Given the description of an element on the screen output the (x, y) to click on. 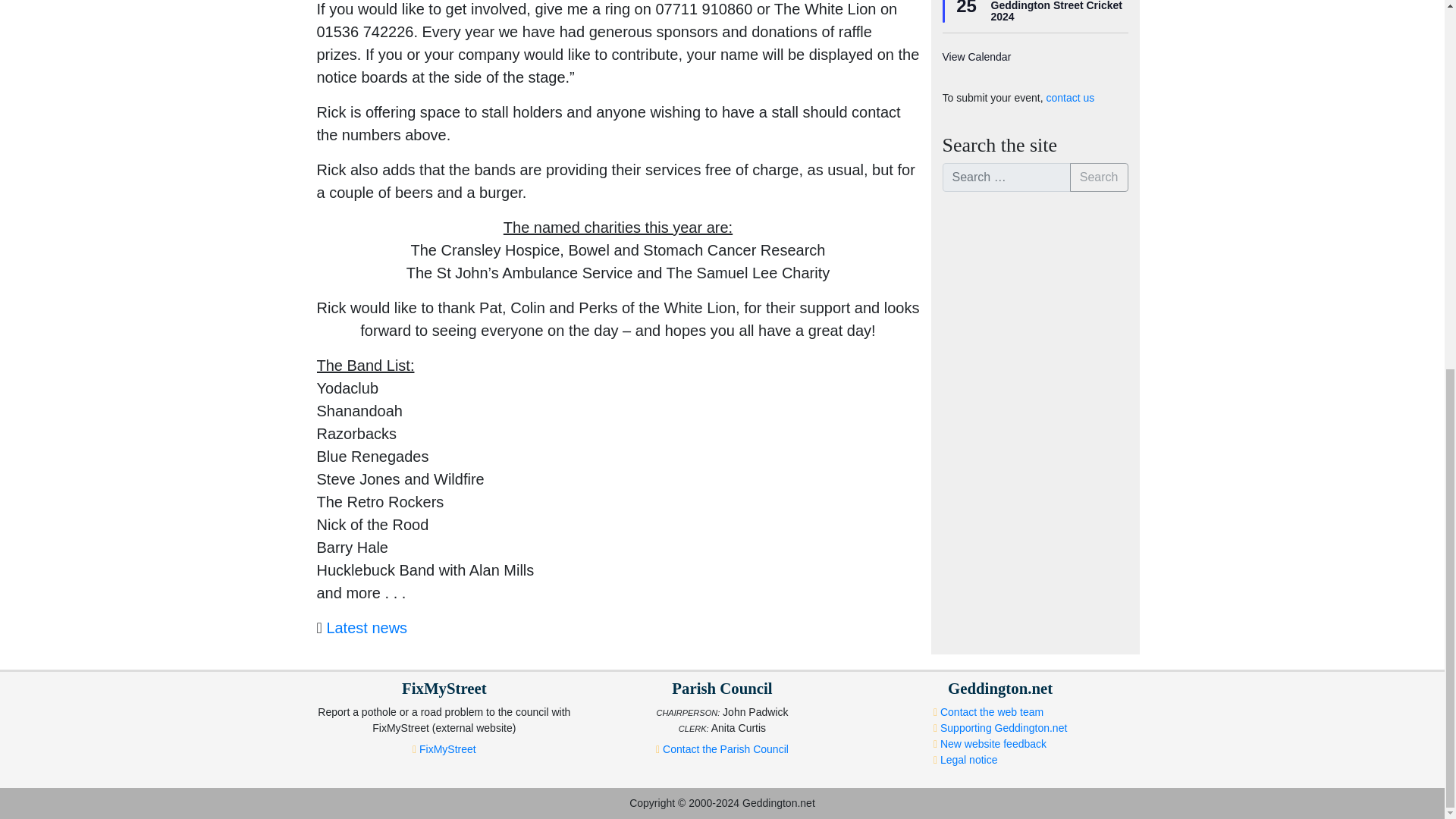
Latest news (366, 627)
Search (1099, 176)
New website feedback (993, 743)
Supporting Geddington.net (1003, 727)
contact us (1069, 97)
View Calendar (976, 56)
Contact the Parish Council (725, 748)
Legal notice (968, 759)
Geddington Street Cricket 2024 (1055, 11)
Contact the web team (991, 711)
FixMyStreet (447, 748)
Geddington Street Cricket 2024 (1055, 11)
